Given the description of an element on the screen output the (x, y) to click on. 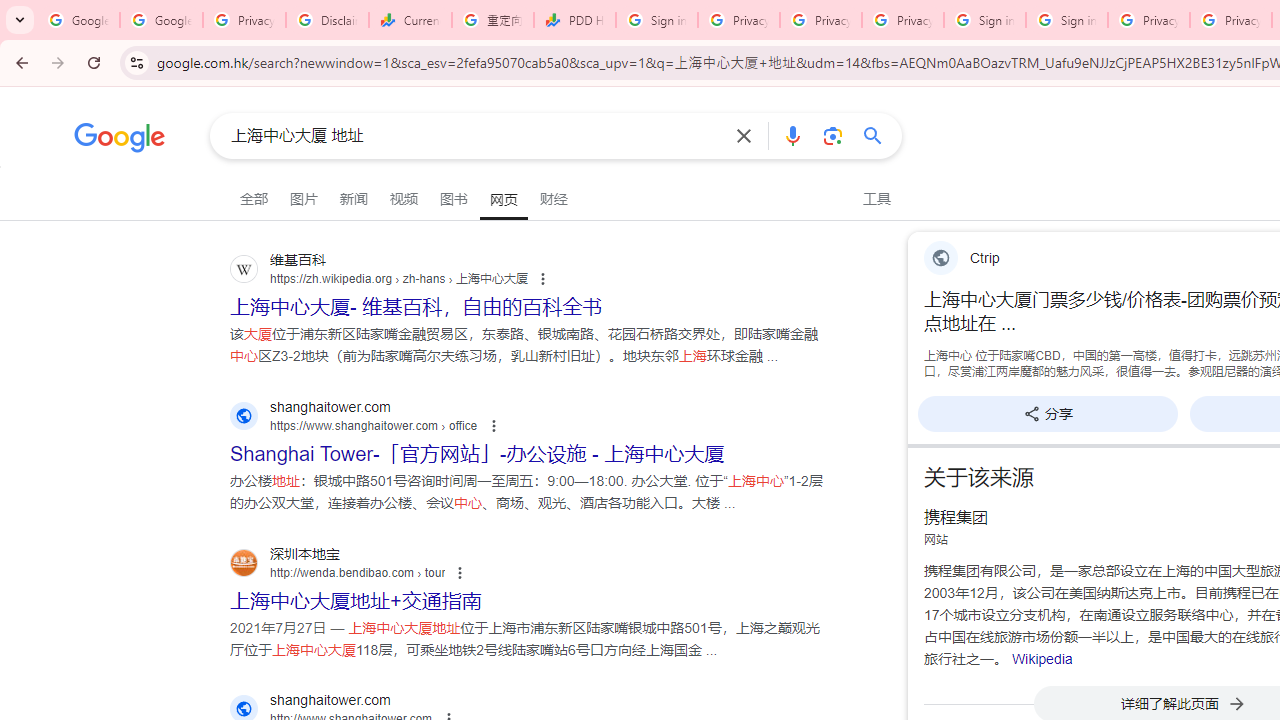
Wikipedia (1041, 658)
